Given the description of an element on the screen output the (x, y) to click on. 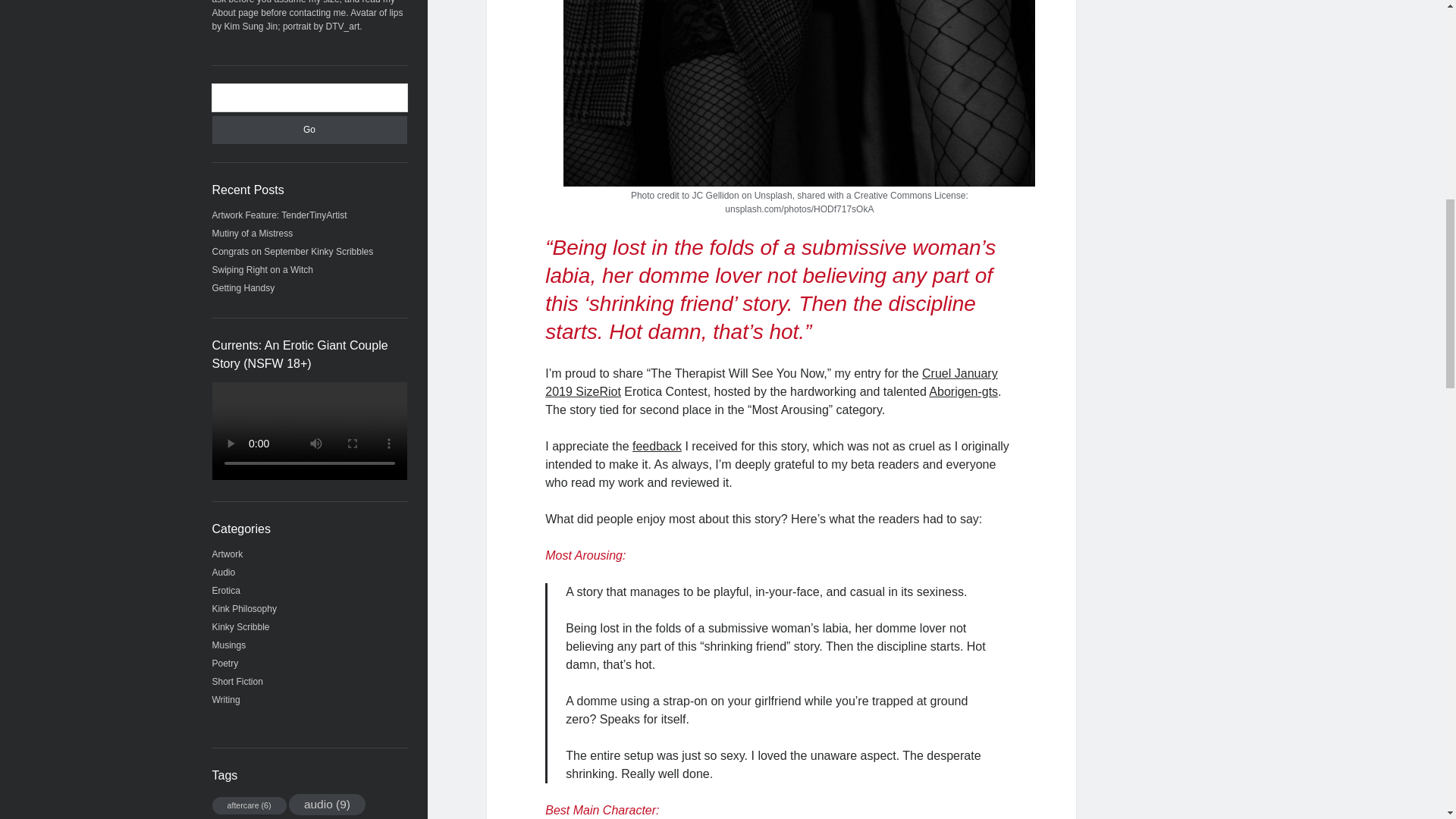
Go (309, 130)
Mutiny of a Mistress (253, 233)
Musings (229, 644)
Short Fiction (237, 681)
Poetry (225, 663)
Swiping Right on a Witch (262, 269)
Go (309, 130)
Kink Philosophy (244, 608)
Go (309, 130)
Artwork Feature: TenderTinyArtist (279, 214)
Congrats on September Kinky Scribbles (293, 251)
Writing (226, 699)
Artwork (227, 553)
Getting Handsy (243, 287)
Search for: (309, 97)
